Given the description of an element on the screen output the (x, y) to click on. 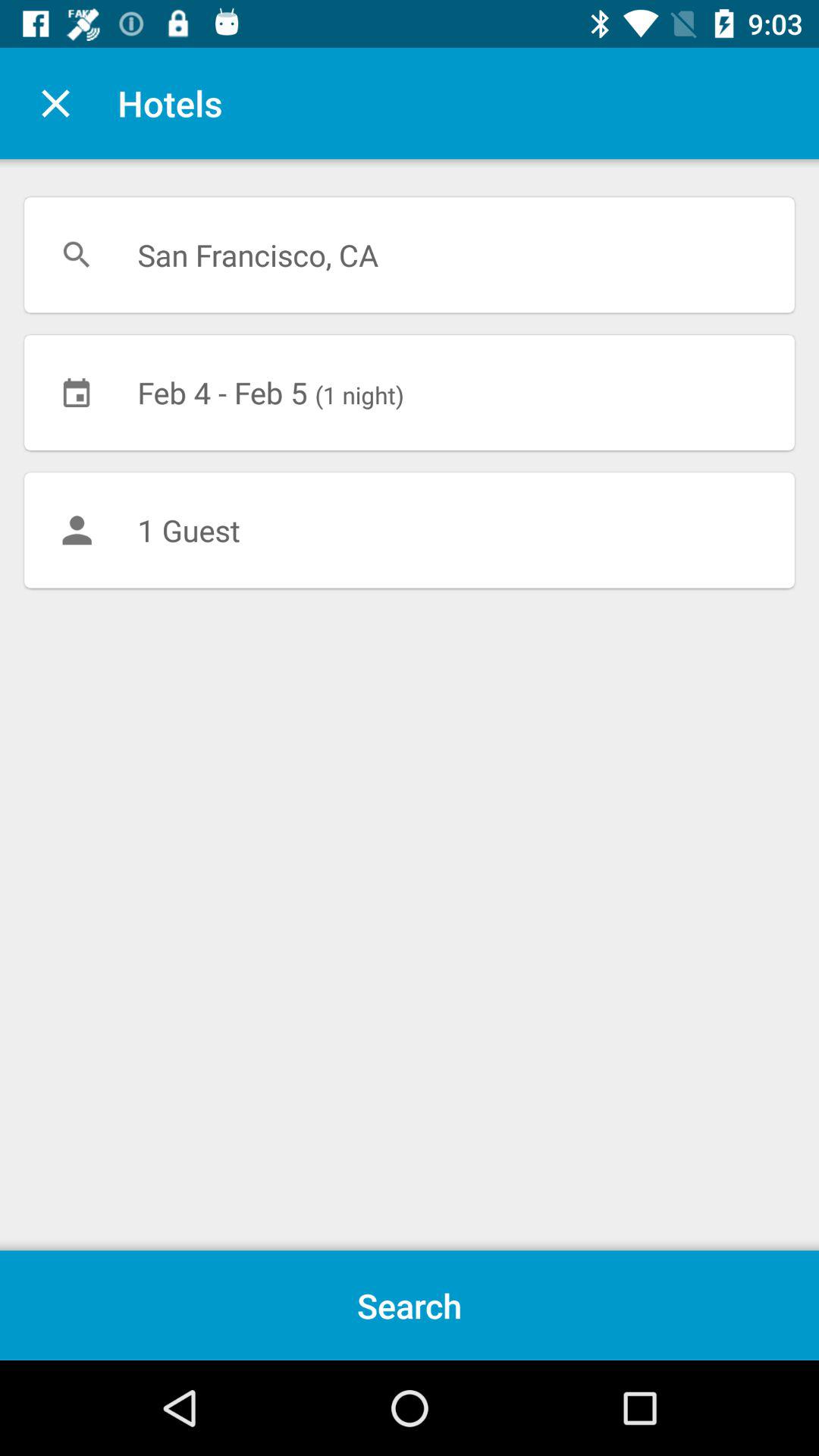
launch 1 guest icon (409, 530)
